Given the description of an element on the screen output the (x, y) to click on. 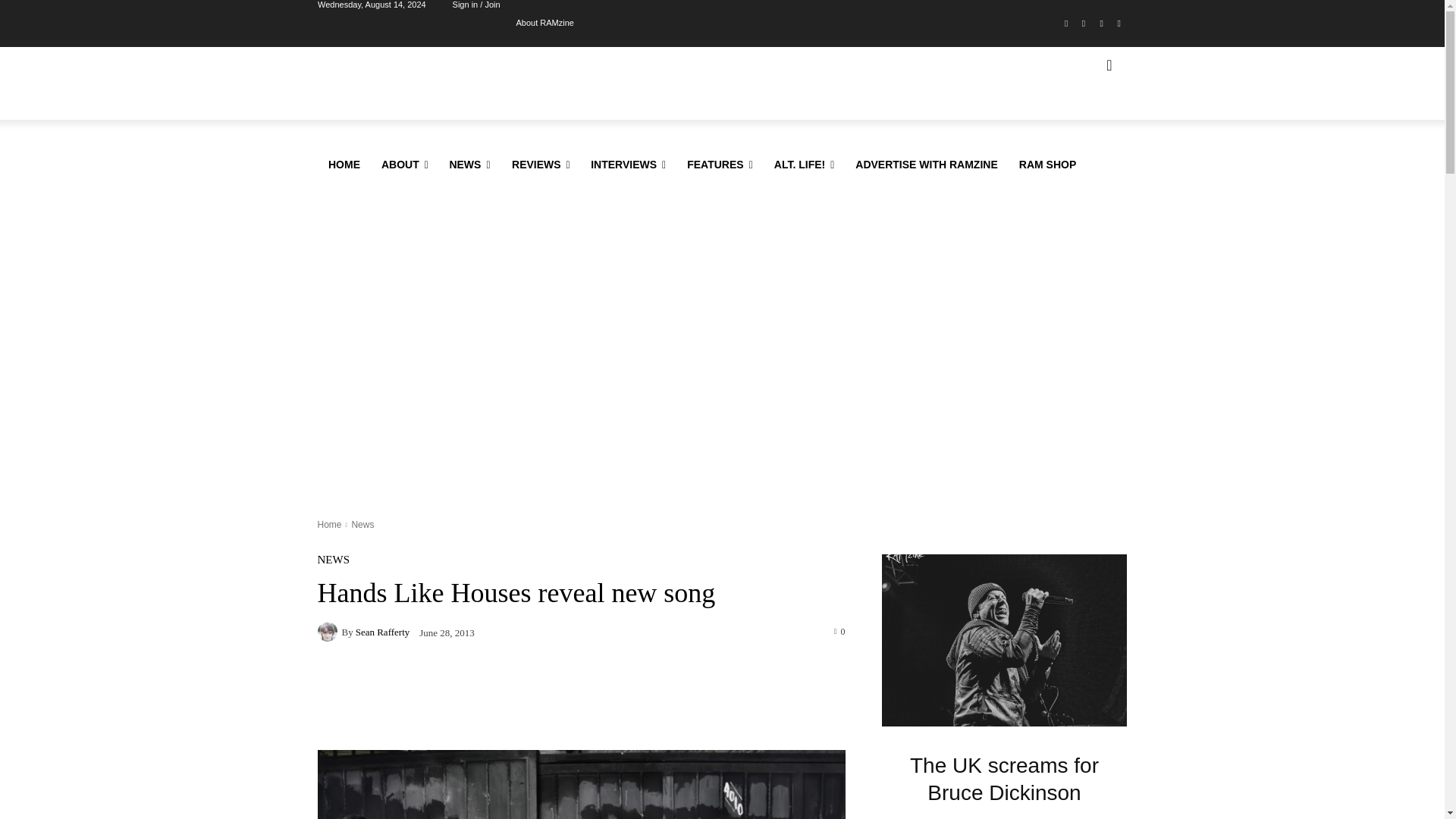
Twitter (1101, 23)
Facebook (1066, 23)
Instagram (1084, 23)
Youtube (1117, 23)
